Given the description of an element on the screen output the (x, y) to click on. 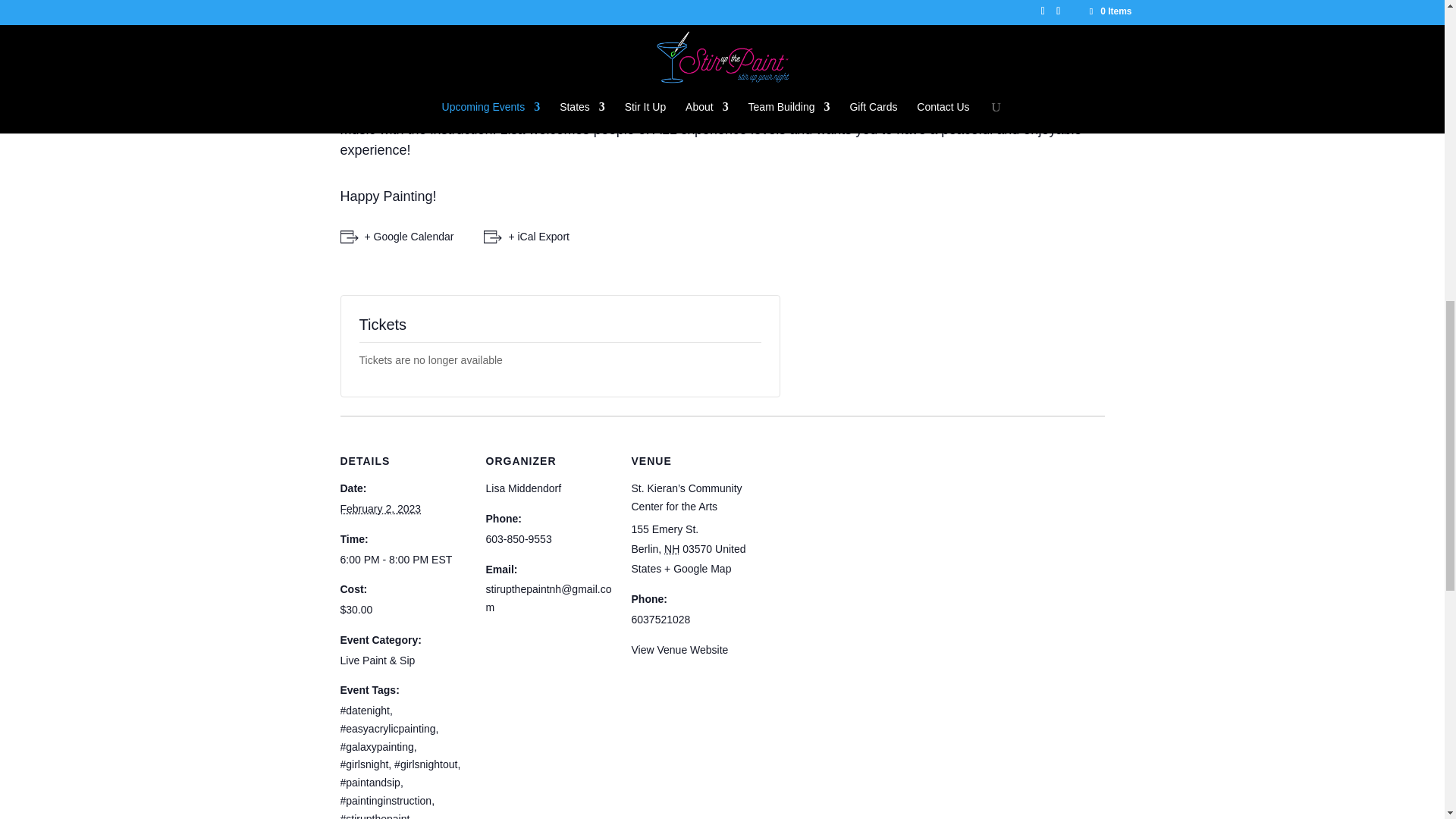
2023-02-02 (379, 508)
Lisa Middendorf (522, 488)
Download .ics file (526, 236)
Add to Google Calendar (395, 236)
New Hampshire (671, 548)
Lisa Middendorf (522, 488)
2023-02-02 (403, 560)
Click to view a Google Map (696, 568)
